Given the description of an element on the screen output the (x, y) to click on. 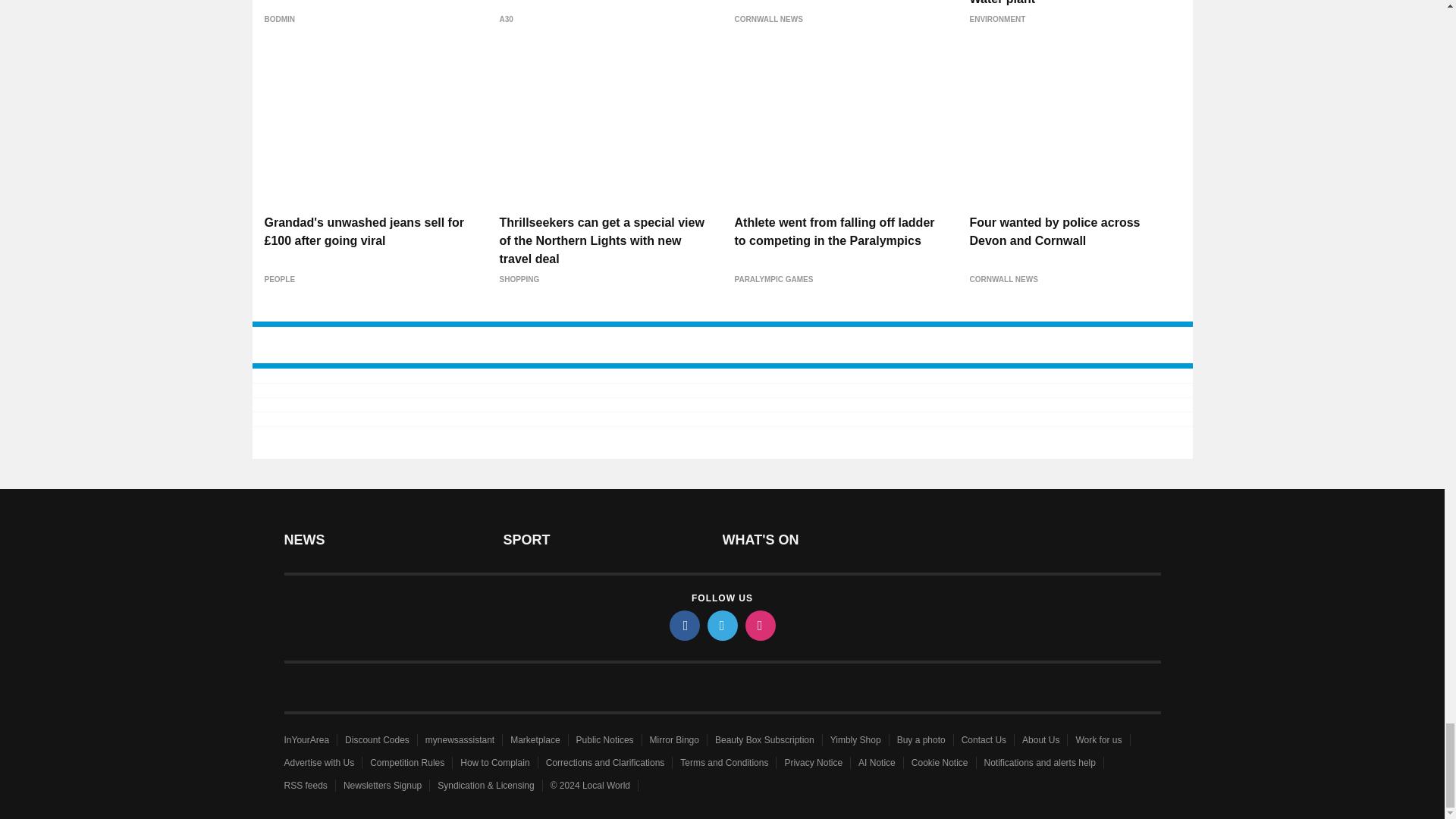
instagram (759, 625)
twitter (721, 625)
facebook (683, 625)
